Given the description of an element on the screen output the (x, y) to click on. 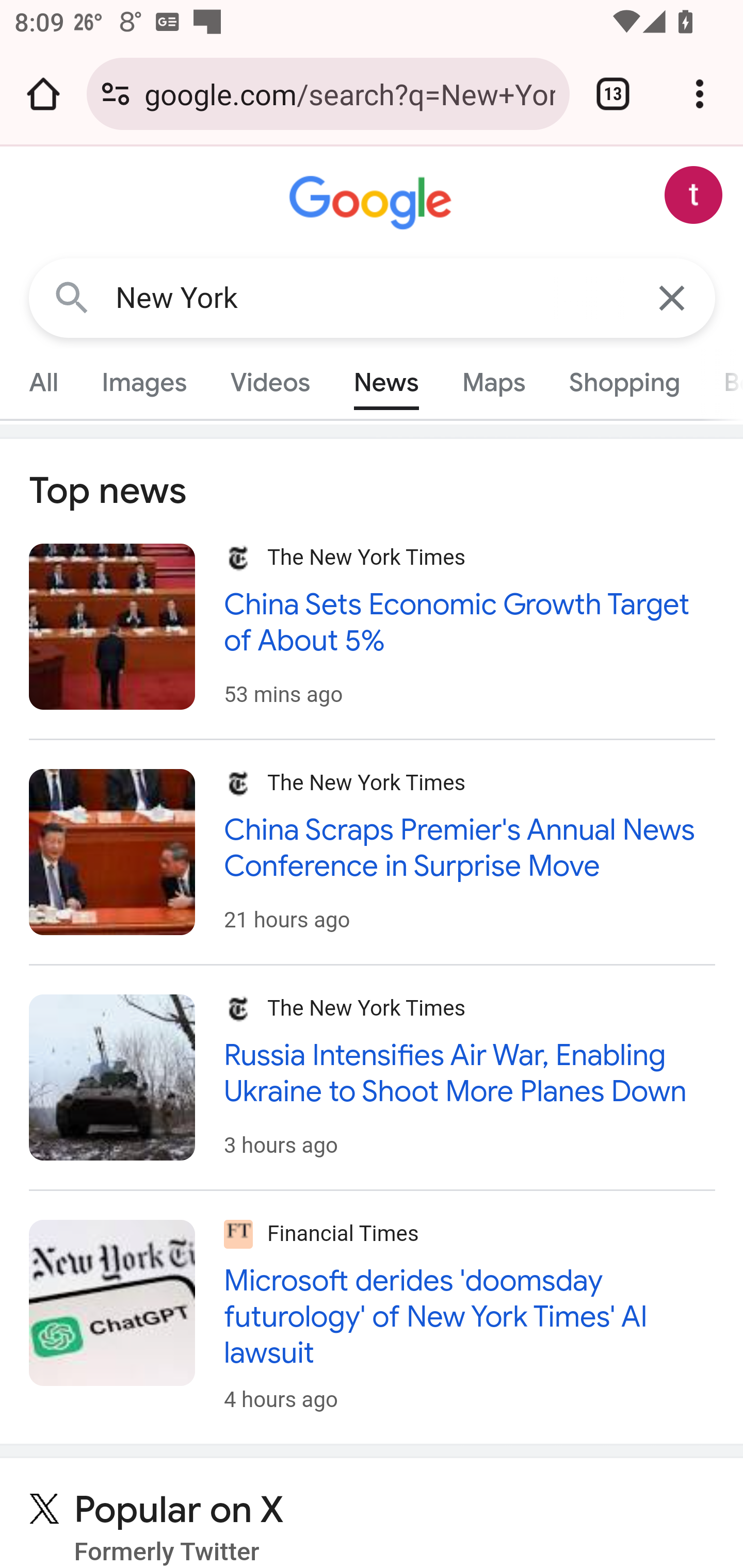
Open the home page (43, 93)
Connection is secure (115, 93)
Switch or close tabs (612, 93)
Customize and control Google Chrome (699, 93)
Google (372, 203)
Google Search (71, 296)
Clear Search (672, 296)
New York (372, 297)
All (43, 382)
Images (144, 382)
Videos (270, 382)
Maps (493, 382)
Shopping (623, 382)
